Given the description of an element on the screen output the (x, y) to click on. 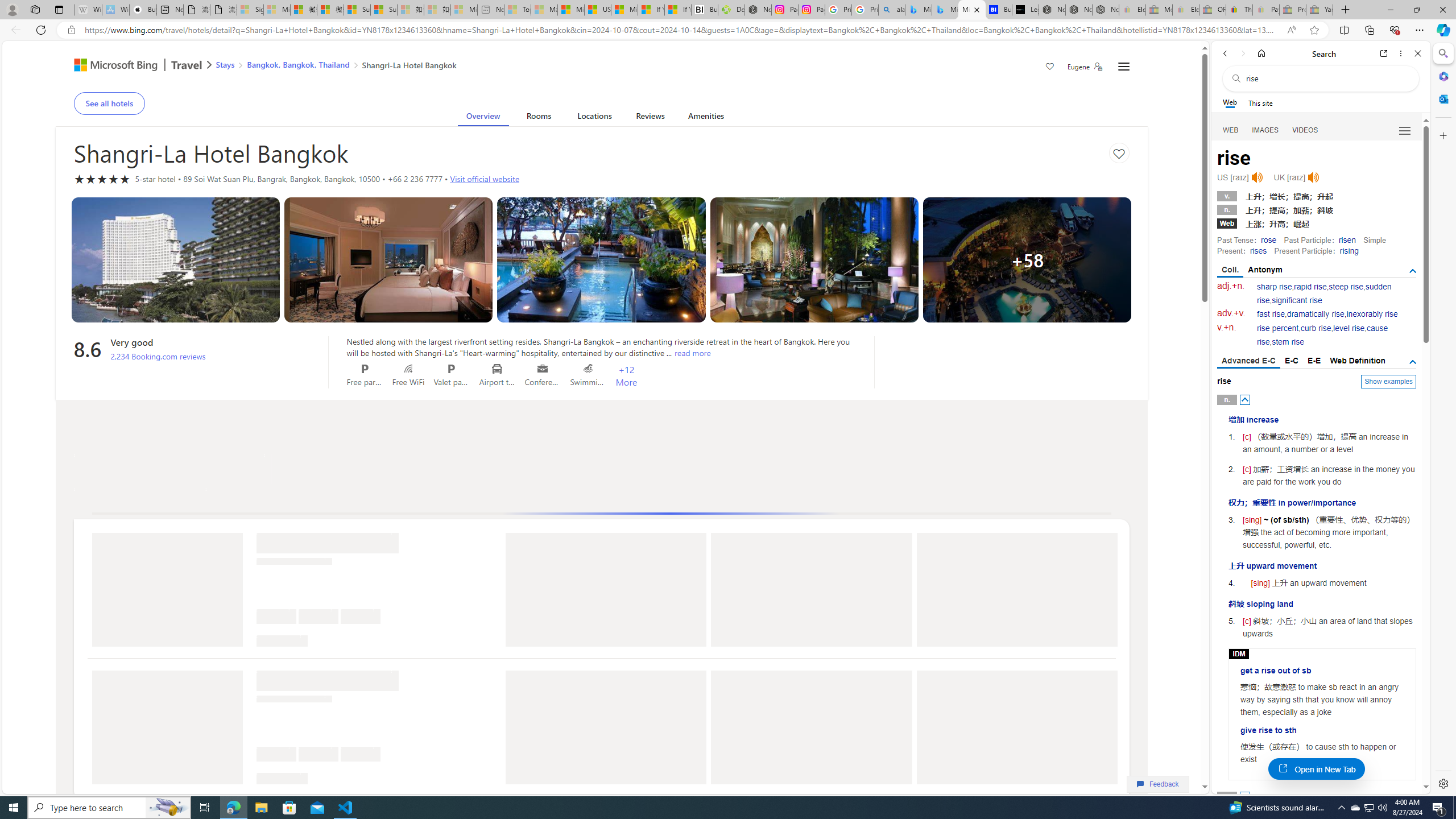
Conference rooms (542, 368)
steep rise (1345, 286)
rapid rise (1310, 286)
Class: ms-ShimmerLine-topRightCorner topRightCorner-133 (302, 776)
Bangkok, Bangkok, Thailand (298, 64)
Free parking (364, 368)
Valet parking (451, 368)
